Given the description of an element on the screen output the (x, y) to click on. 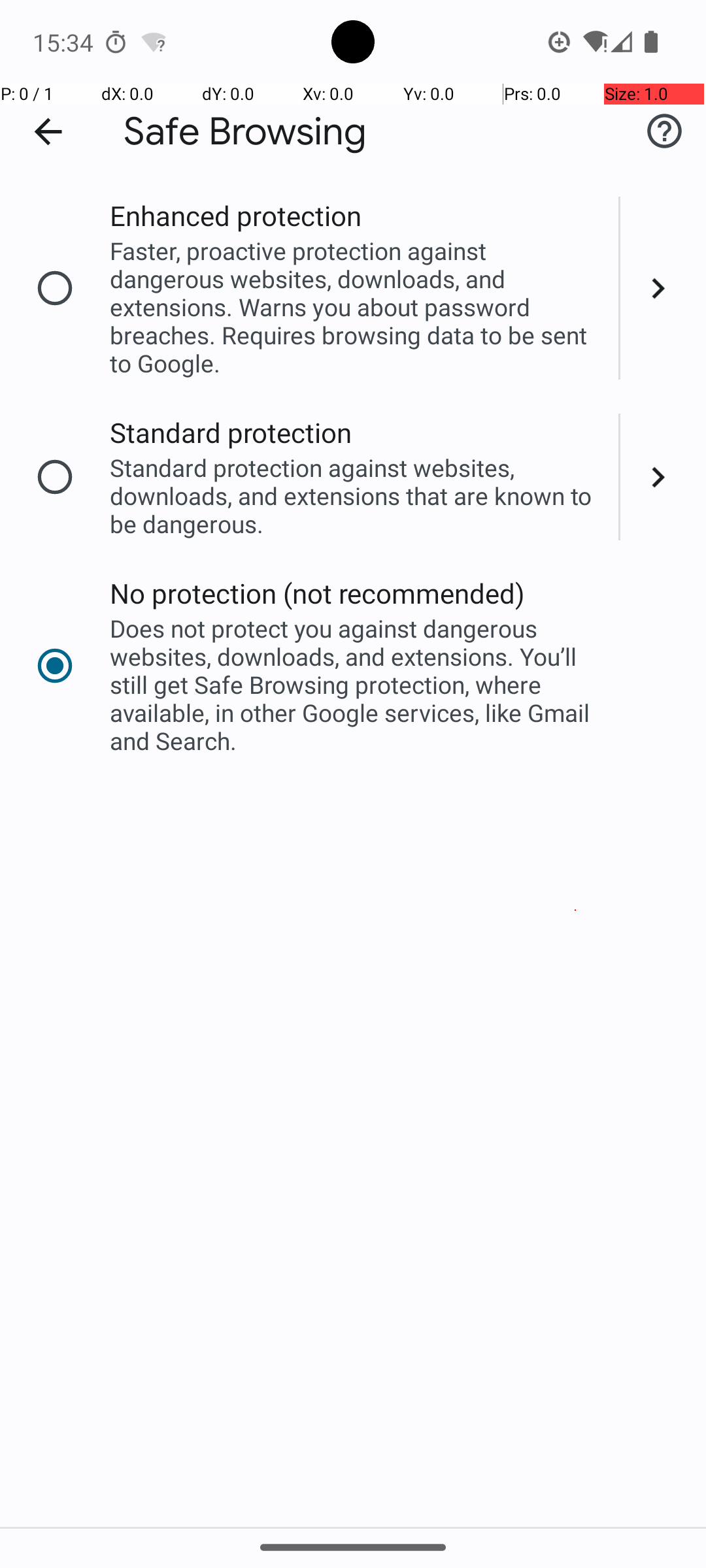
Safe Browsing Element type: android.widget.TextView (244, 131)
Enhanced protection Element type: android.widget.TextView (235, 214)
Faster, proactive protection against dangerous websites, downloads, and extensions. Warns you about password breaches. Requires browsing data to be sent to Google. Element type: android.widget.TextView (355, 306)
Standard protection Element type: android.widget.TextView (230, 431)
Standard protection against websites, downloads, and extensions that are known to be dangerous. Element type: android.widget.TextView (355, 495)
No protection (not recommended) Element type: android.widget.TextView (317, 592)
Does not protect you against dangerous websites, downloads, and extensions. You’ll still get Safe Browsing protection, where available, in other Google services, like Gmail and Search. Element type: android.widget.TextView (355, 684)
